Given the description of an element on the screen output the (x, y) to click on. 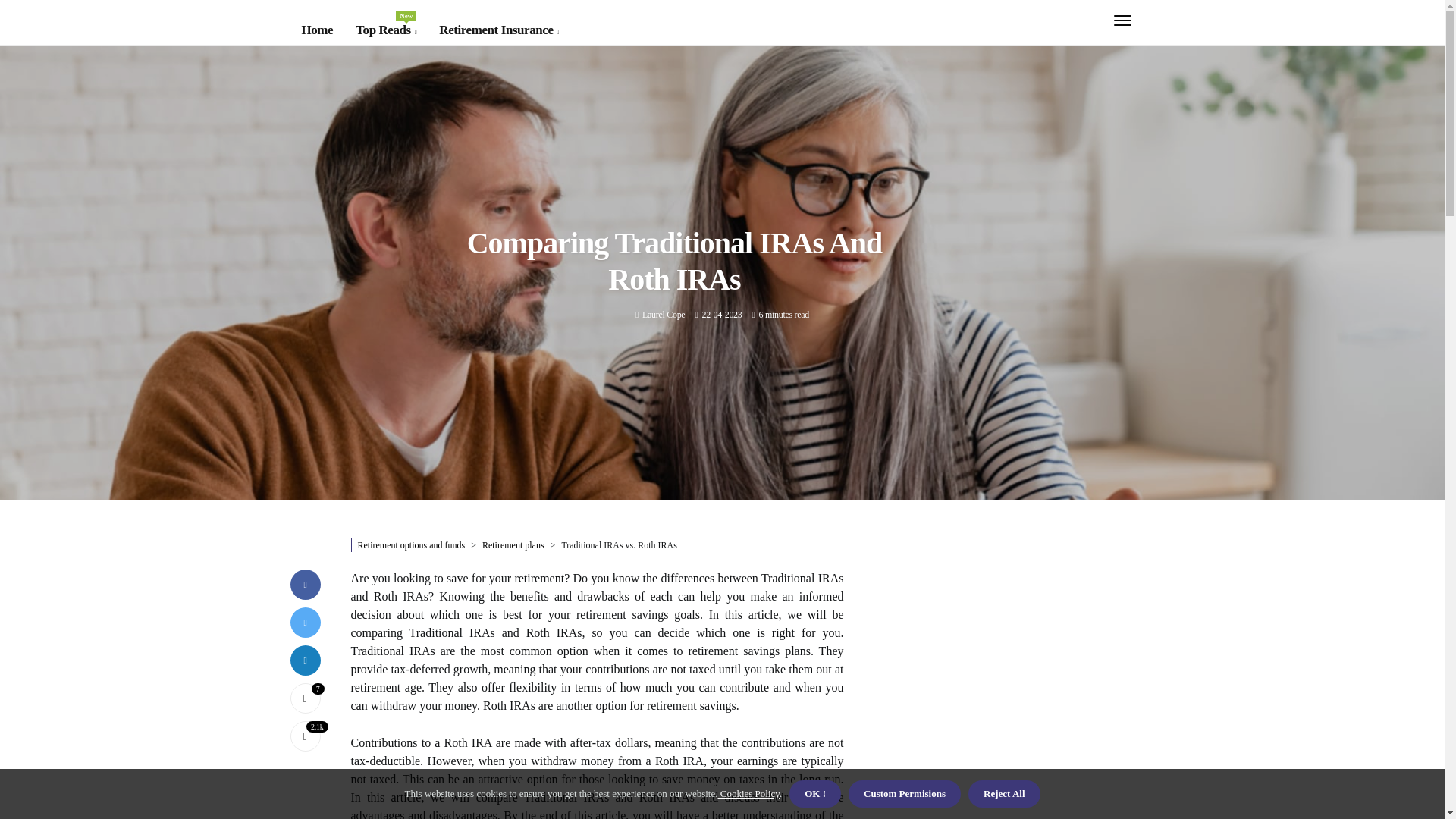
Retirement Insurance (385, 30)
Posts by Laurel Cope (499, 30)
Like (663, 314)
